Given the description of an element on the screen output the (x, y) to click on. 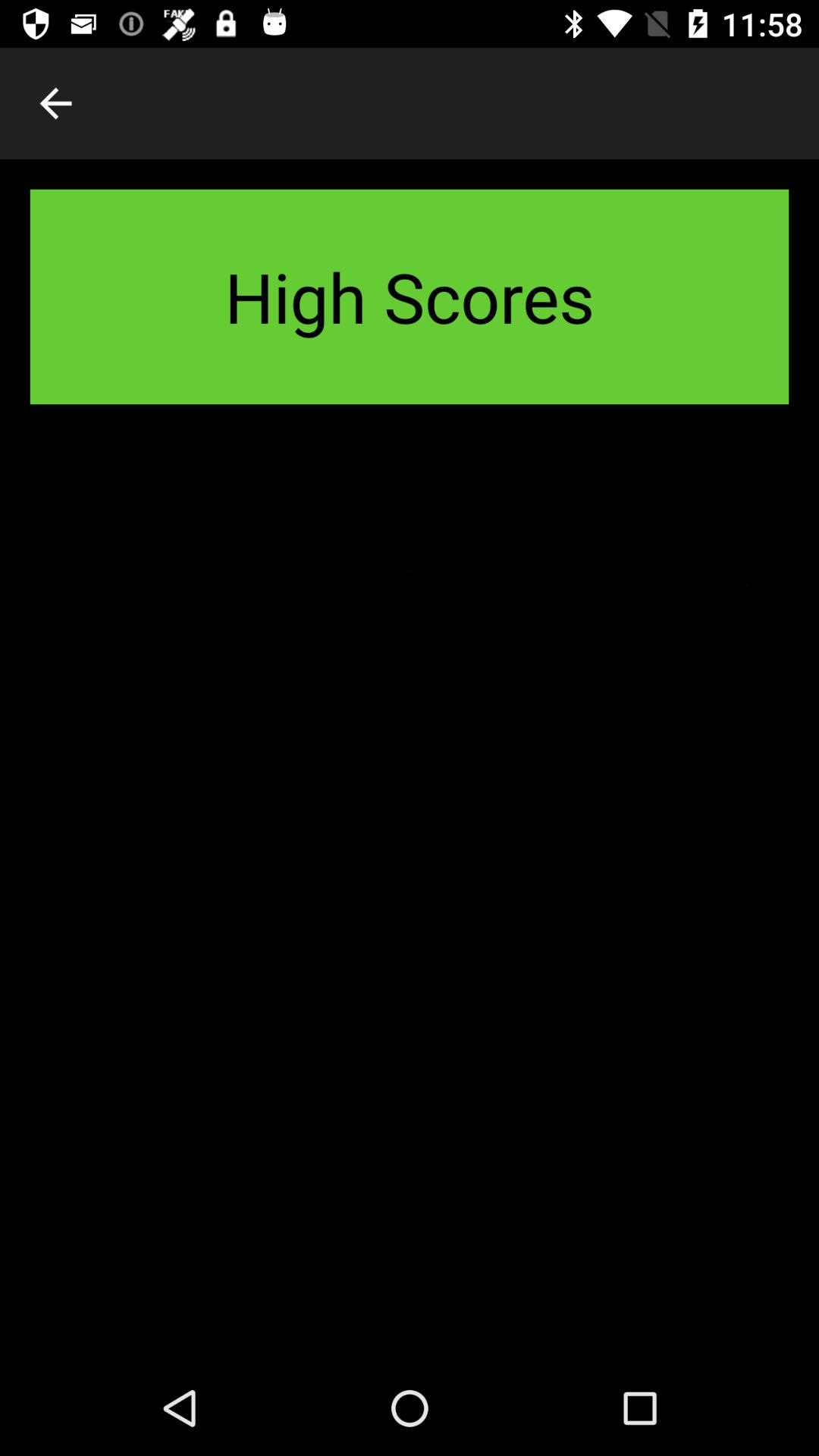
press the icon at the center (409, 897)
